Given the description of an element on the screen output the (x, y) to click on. 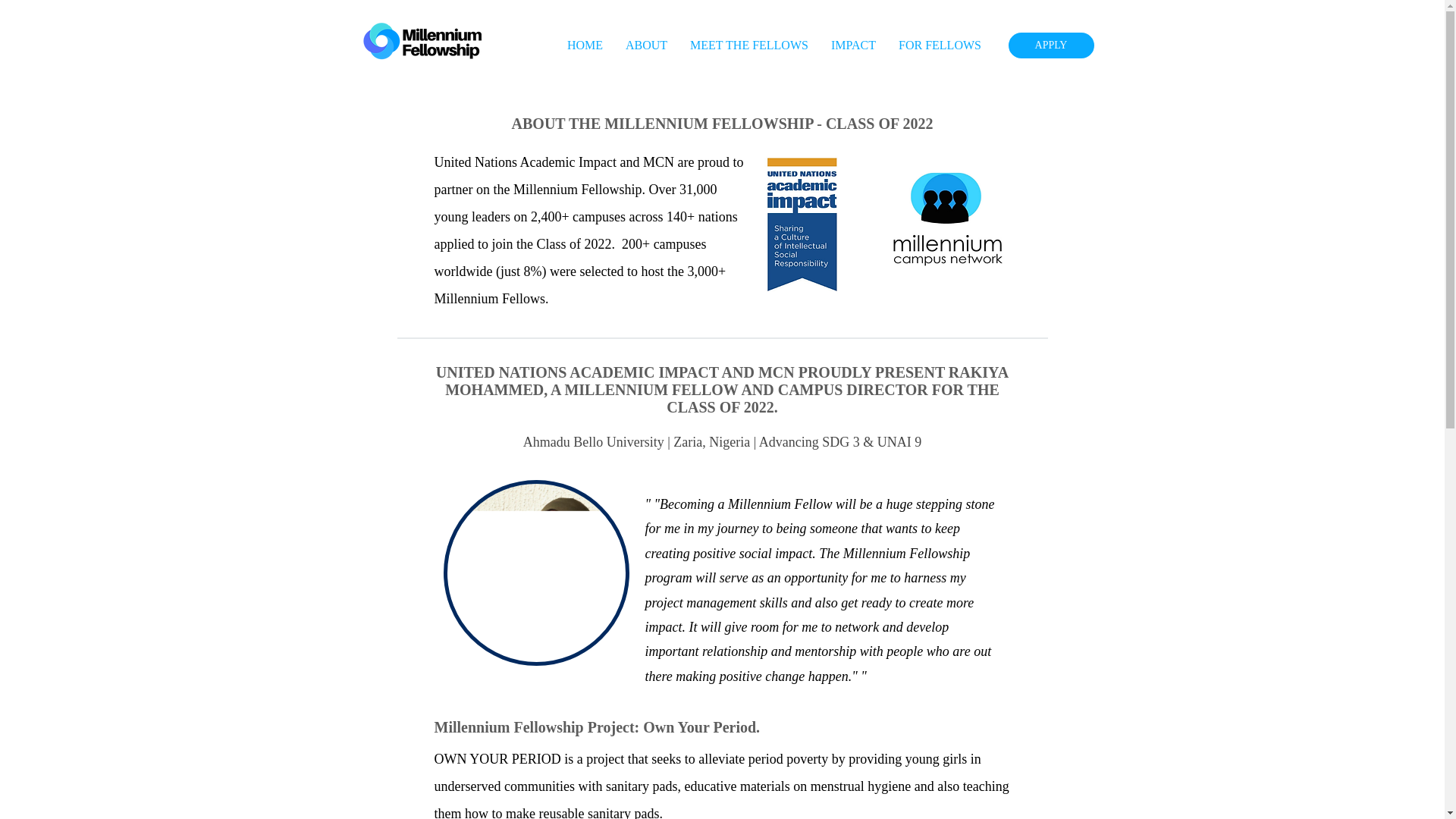
APPLY (1051, 45)
MEET THE FELLOWS (748, 45)
FOR FELLOWS (939, 45)
HOME (585, 45)
